Given the description of an element on the screen output the (x, y) to click on. 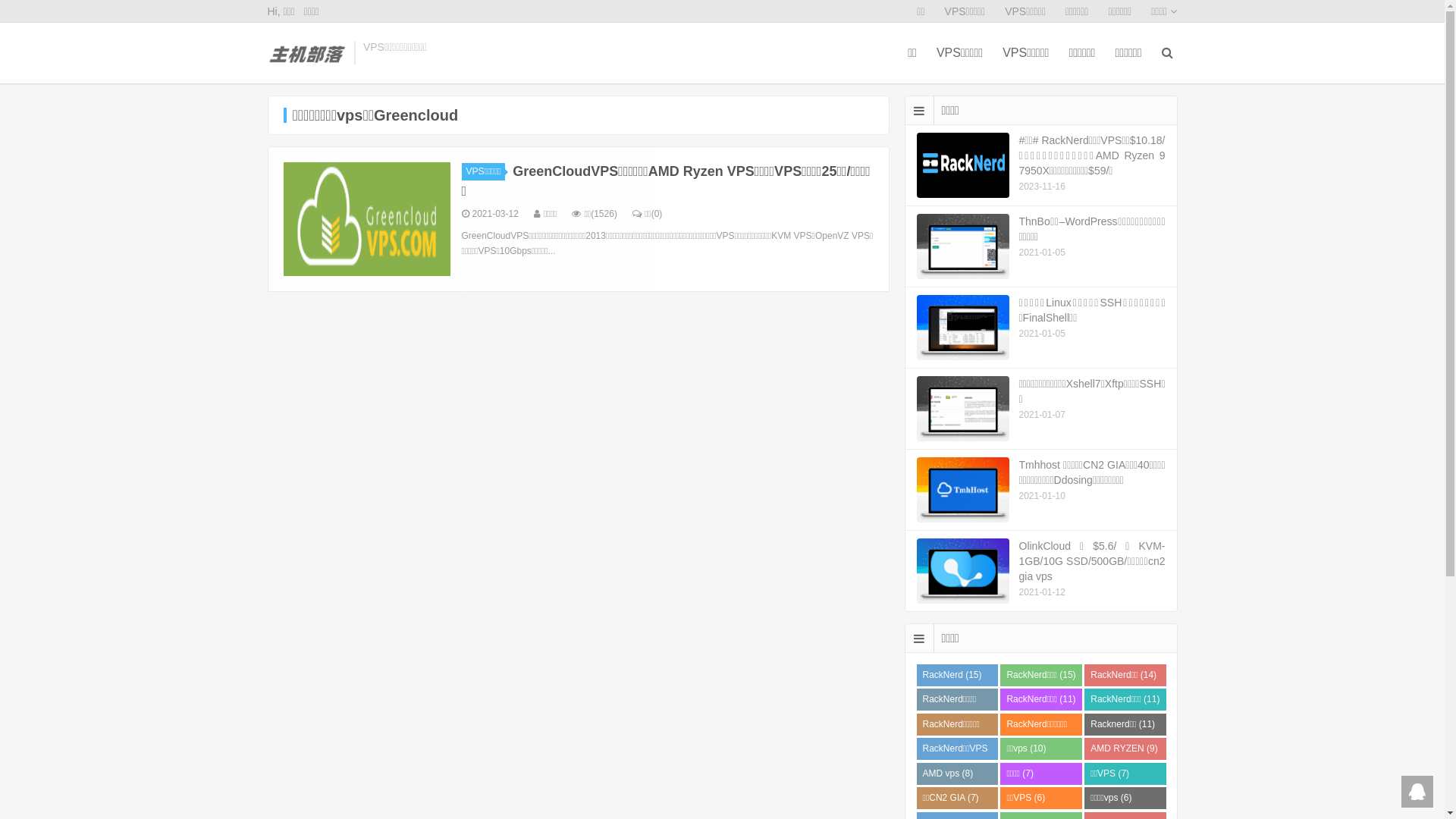
AMD vps (8) Element type: text (956, 773)
AMD RYZEN (9) Element type: text (1124, 748)
RackNerd (15) Element type: text (956, 675)
